Given the description of an element on the screen output the (x, y) to click on. 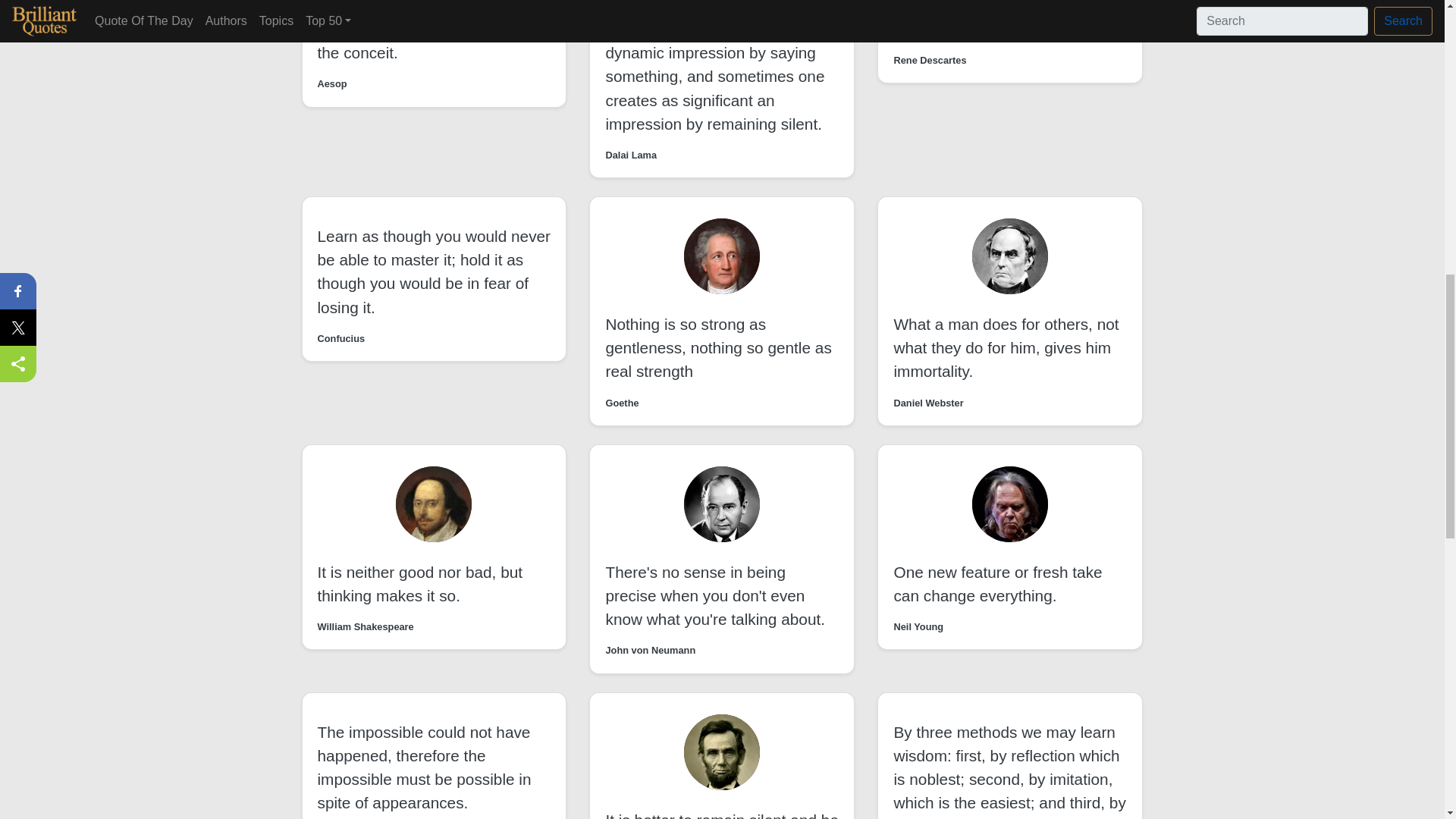
I think, therefore I am. (969, 28)
It is neither good nor bad, but thinking makes it so. (419, 583)
Rene Descartes (929, 60)
Daniel Webster (927, 402)
William Shakespeare (365, 626)
Aesop (331, 83)
Dalai Lama (630, 155)
The smaller the mind, the greater the conceit. (432, 40)
Confucius (341, 338)
Goethe (622, 402)
